Given the description of an element on the screen output the (x, y) to click on. 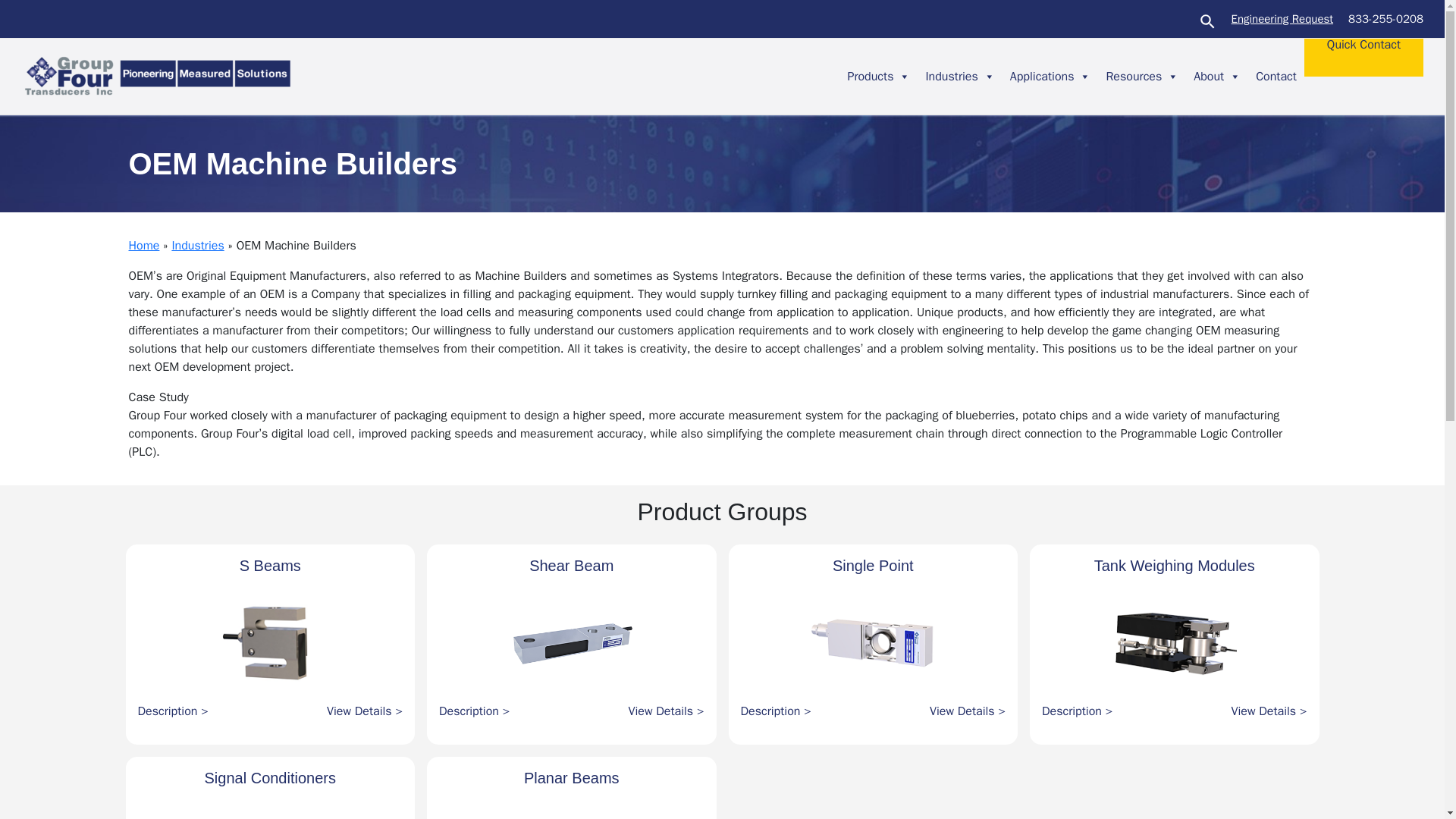
Products (878, 76)
833-255-0208 (1385, 18)
Engineering Request (1282, 18)
